Given the description of an element on the screen output the (x, y) to click on. 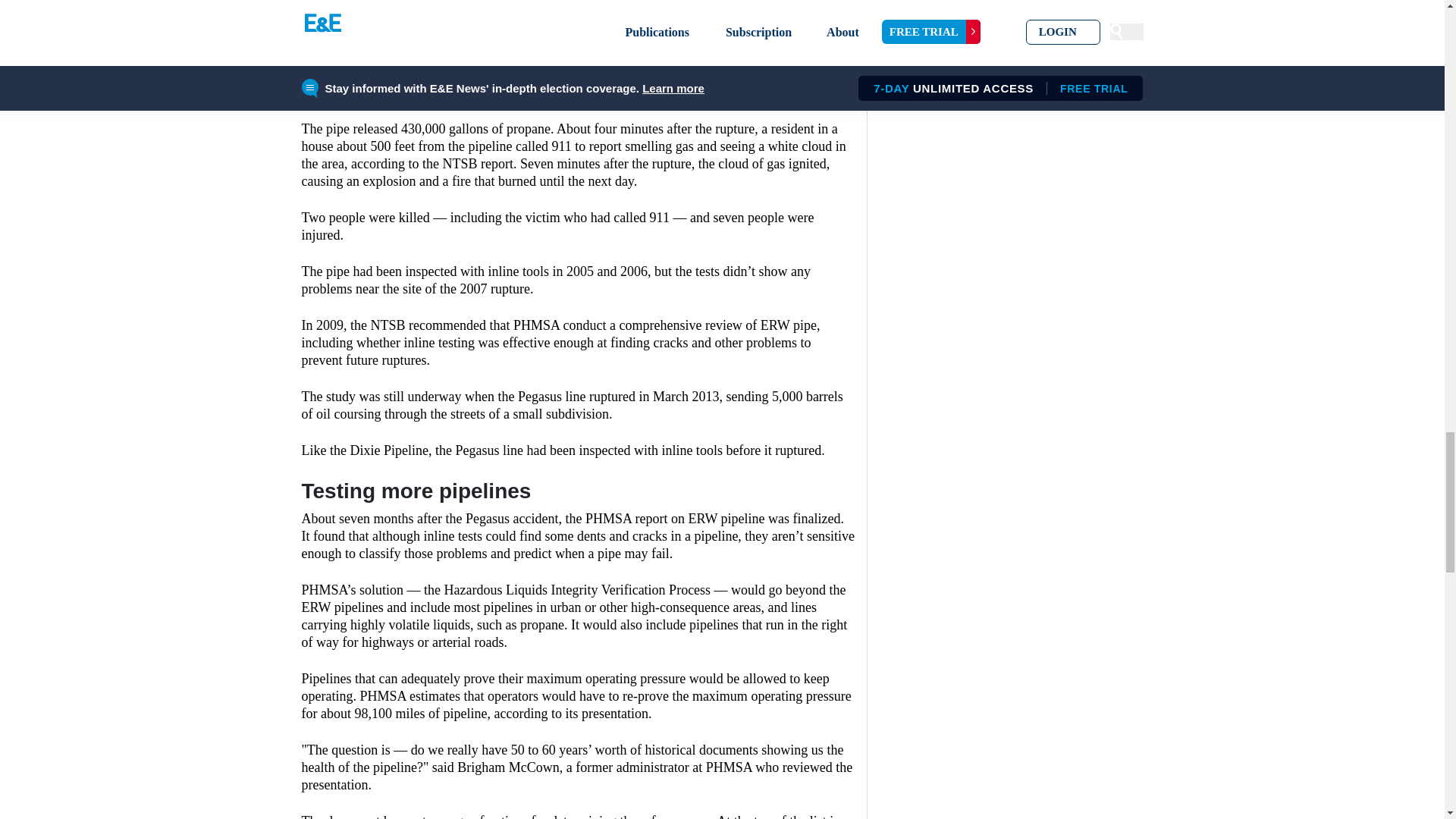
according to the NTSB (620, 57)
